Given the description of an element on the screen output the (x, y) to click on. 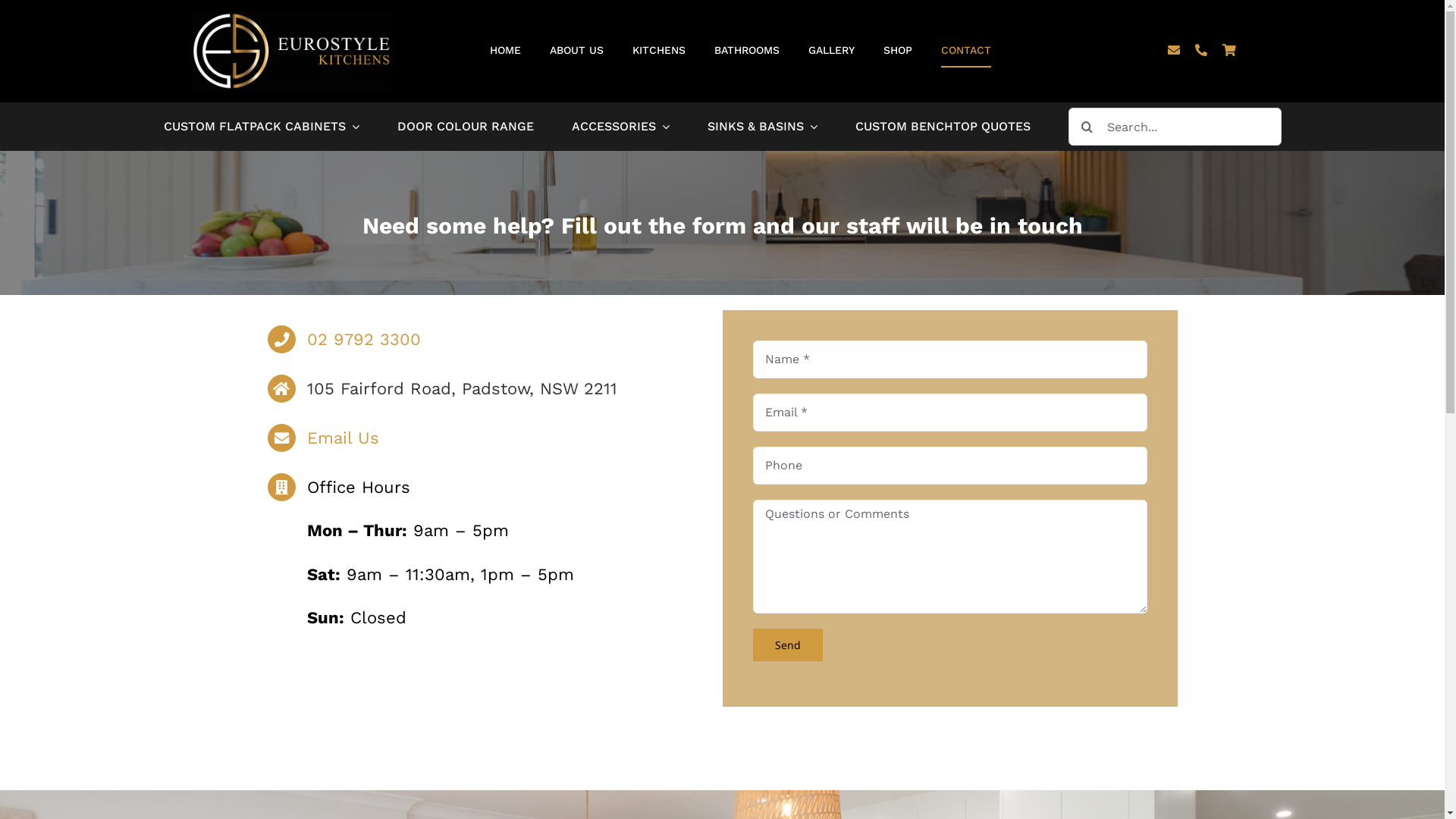
KITCHENS Element type: text (658, 50)
GALLERY Element type: text (831, 50)
HOME Element type: text (504, 50)
ACCESSORIES Element type: text (620, 127)
SINKS & BASINS Element type: text (761, 127)
Email Us Element type: text (343, 437)
02 9792 3300 Element type: text (363, 338)
CUSTOM FLATPACK CABINETS Element type: text (261, 127)
CUSTOM BENCHTOP QUOTES Element type: text (942, 127)
BATHROOMS Element type: text (746, 50)
CONTACT Element type: text (966, 50)
Send Element type: text (787, 644)
SHOP Element type: text (897, 50)
ABOUT US Element type: text (576, 50)
DOOR COLOUR RANGE Element type: text (465, 127)
